Given the description of an element on the screen output the (x, y) to click on. 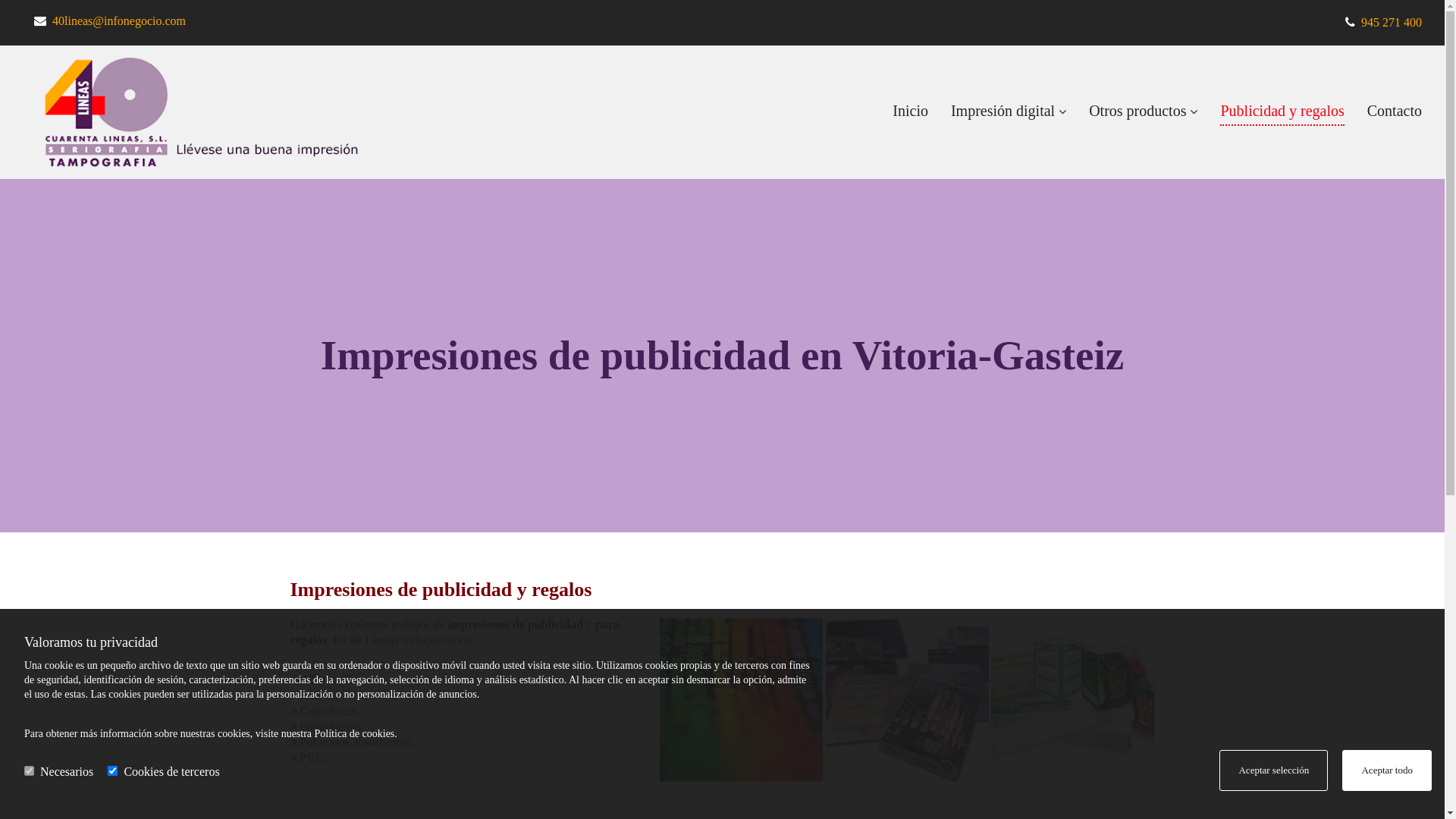
Contacto Element type: text (1394, 112)
Inicio Element type: text (910, 112)
40lineas@infonegocio.com Element type: text (118, 19)
Publicidad y regalos Element type: text (1281, 112)
Otros productos Element type: text (1142, 112)
945 271 400 Element type: text (1391, 21)
Aceptar todo Element type: text (1386, 769)
